Given the description of an element on the screen output the (x, y) to click on. 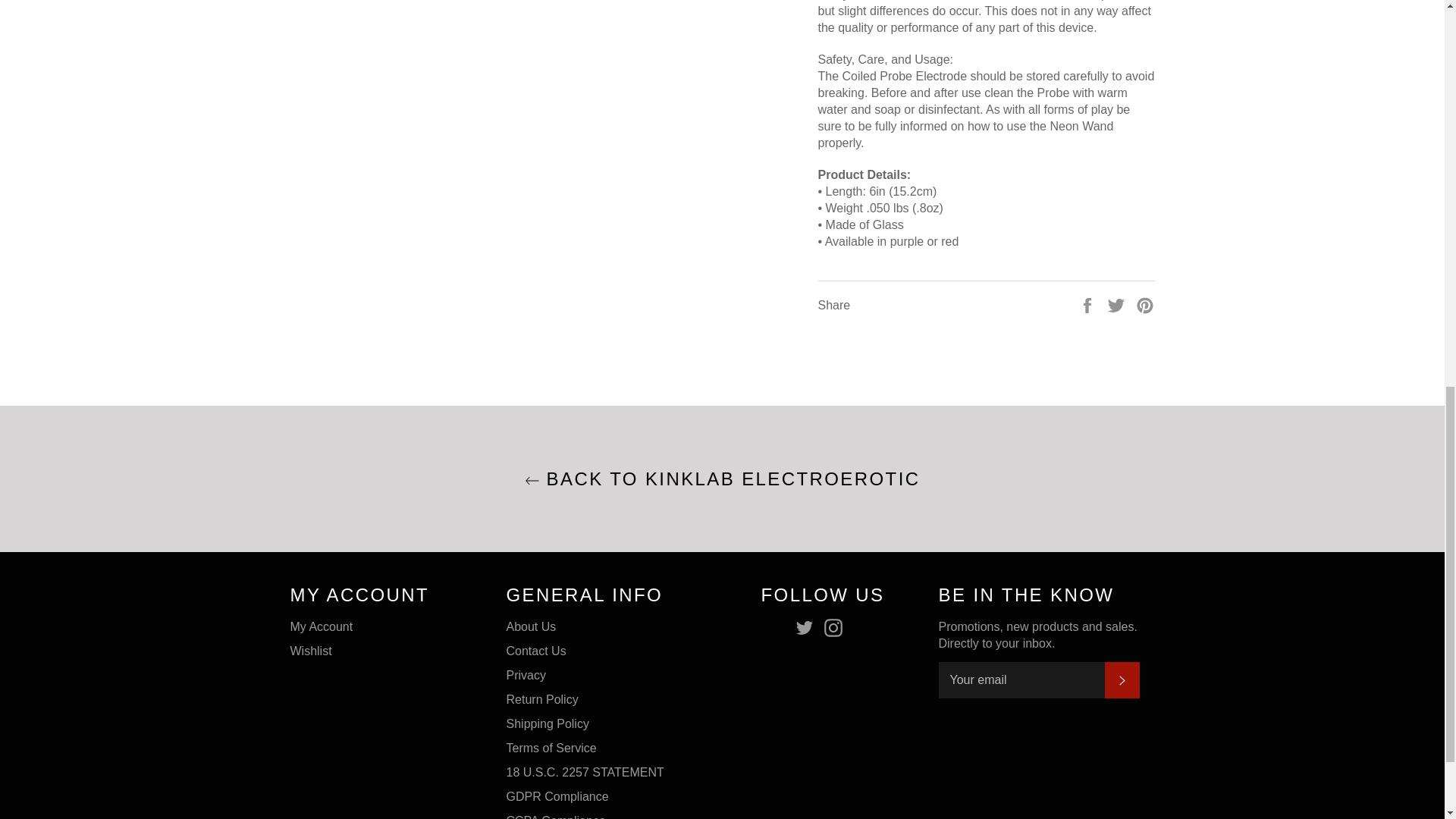
Male Stockroom on Twitter (807, 628)
Tweet on Twitter (1117, 305)
Share on Facebook (1088, 305)
Pin on Pinterest (1144, 305)
Male Stockroom on Instagram (837, 628)
